Given the description of an element on the screen output the (x, y) to click on. 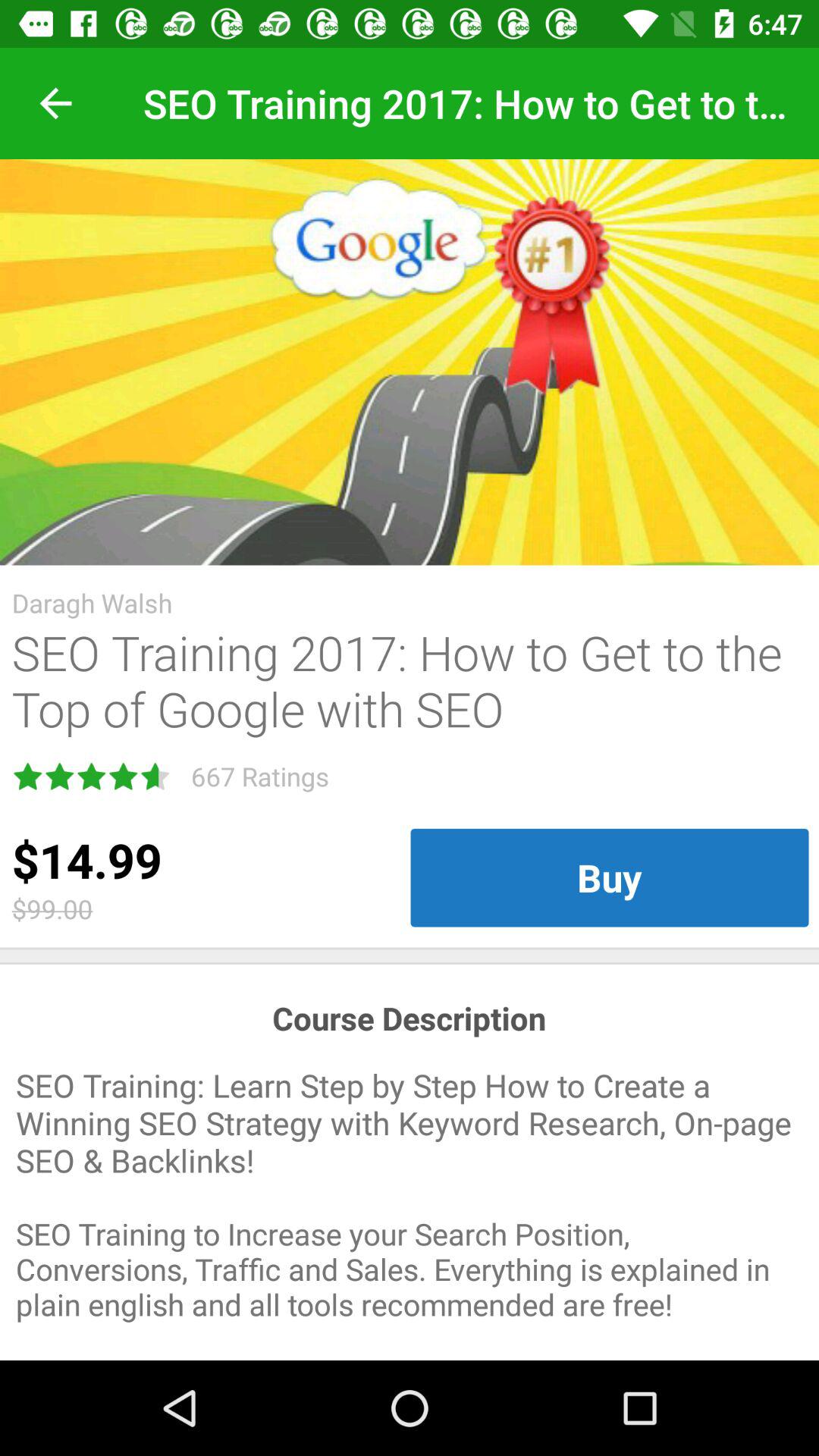
select the item to the right of $14.99 (609, 877)
